Given the description of an element on the screen output the (x, y) to click on. 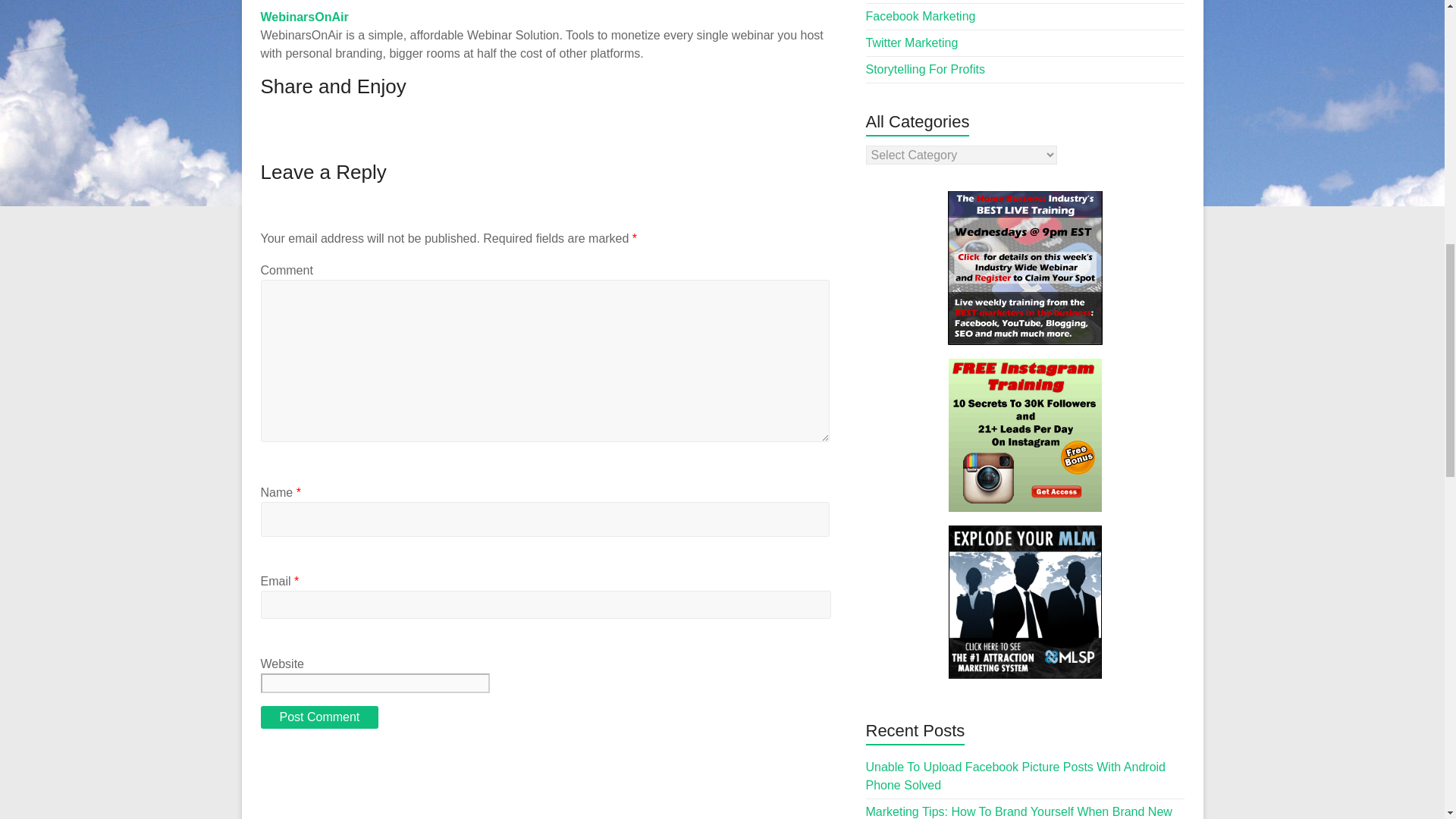
Post Comment (319, 716)
Post Comment (319, 716)
WebinarsOnAir (304, 16)
